Given the description of an element on the screen output the (x, y) to click on. 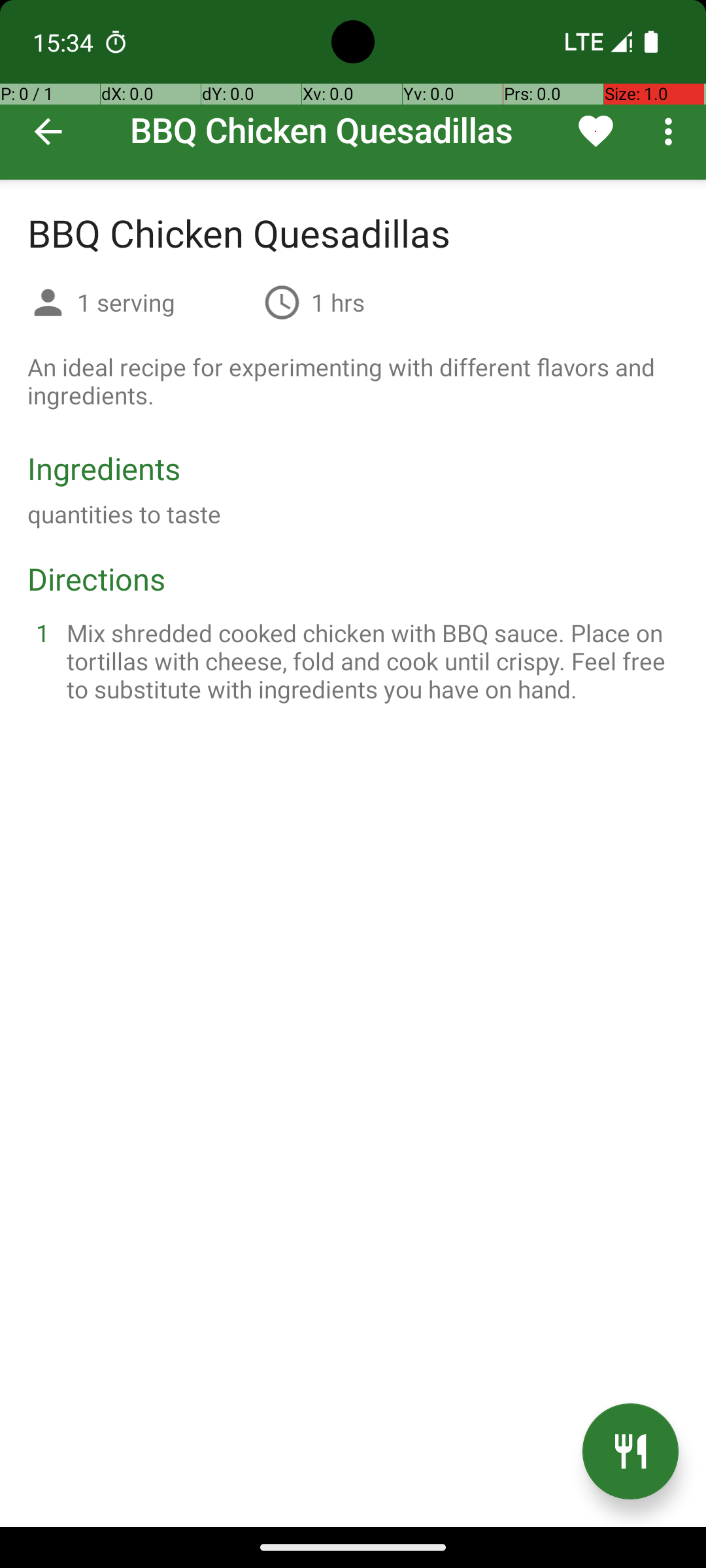
Mix shredded cooked chicken with BBQ sauce. Place on tortillas with cheese, fold and cook until crispy. Feel free to substitute with ingredients you have on hand. Element type: android.widget.TextView (368, 660)
